Given the description of an element on the screen output the (x, y) to click on. 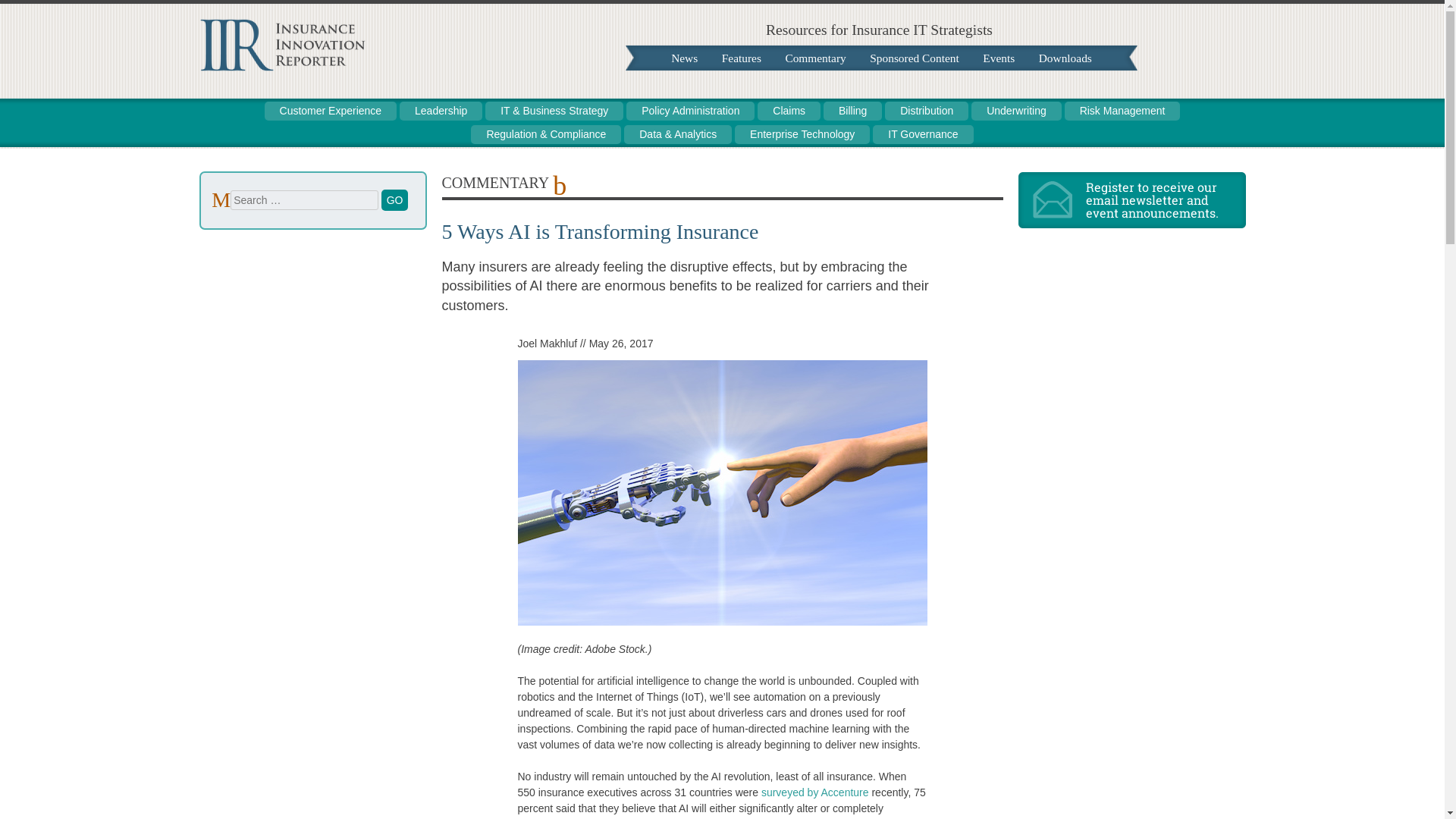
Downloads (1064, 57)
Insurance Innovation Reporter (281, 67)
Policy Administration (690, 110)
Skip to content (226, 109)
Events (998, 57)
Leadership (439, 110)
Go (395, 199)
Skip to content (679, 57)
Distribution (926, 110)
Skip to content (226, 109)
